Given the description of an element on the screen output the (x, y) to click on. 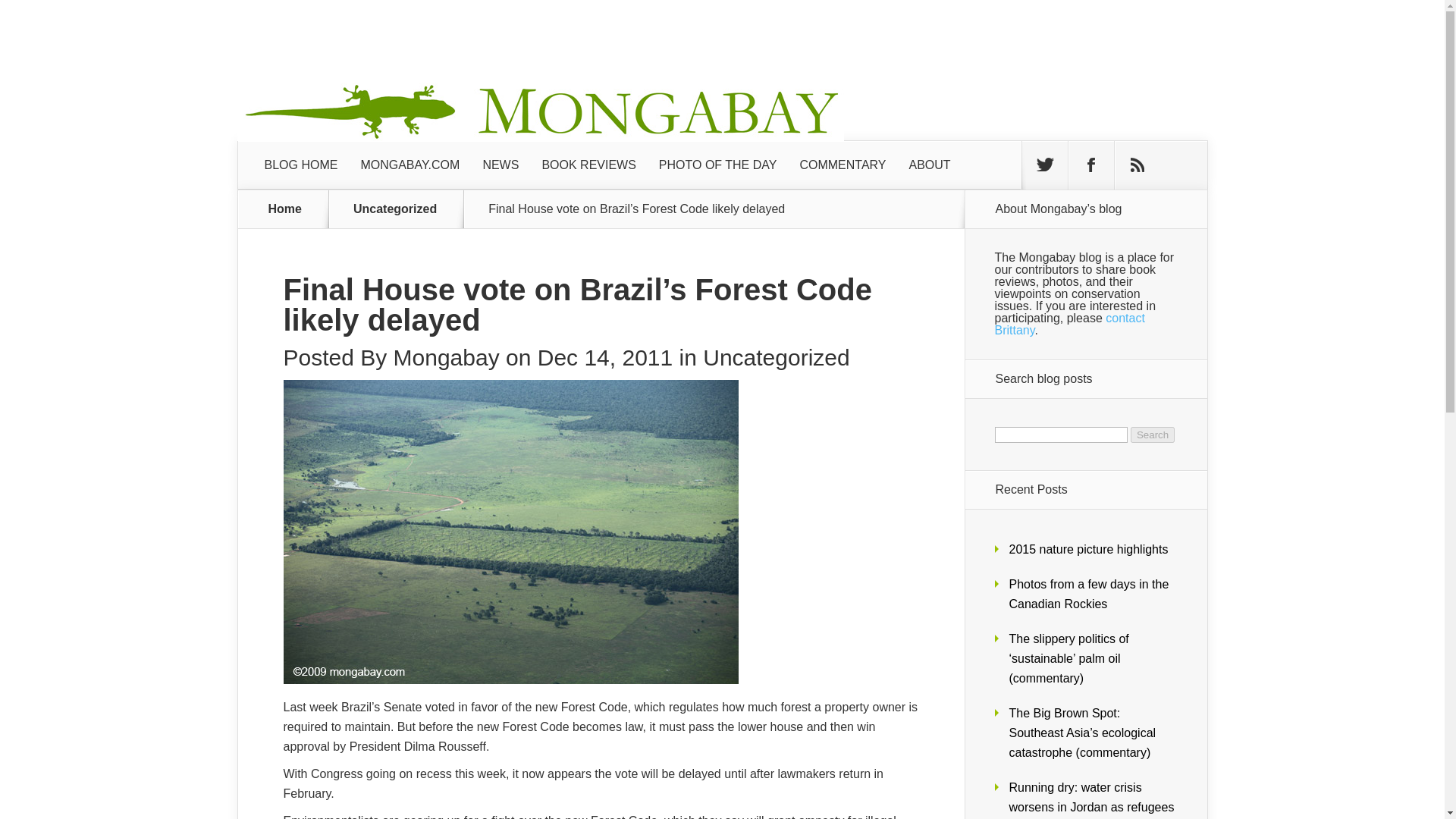
Search (1152, 434)
2015 nature picture highlights (1088, 549)
NEWS (499, 164)
BLOG HOME (301, 164)
Follow us on Facebook (1090, 164)
PHOTO OF THE DAY (718, 164)
Search (1152, 434)
Mongabay (446, 357)
Subscribe To Rss Feed (1137, 164)
Uncategorized (403, 209)
MONGABAY.COM (409, 164)
Follow us on Twitter (1044, 164)
Photos from a few days in the Canadian Rockies (1089, 594)
COMMENTARY (841, 164)
